Given the description of an element on the screen output the (x, y) to click on. 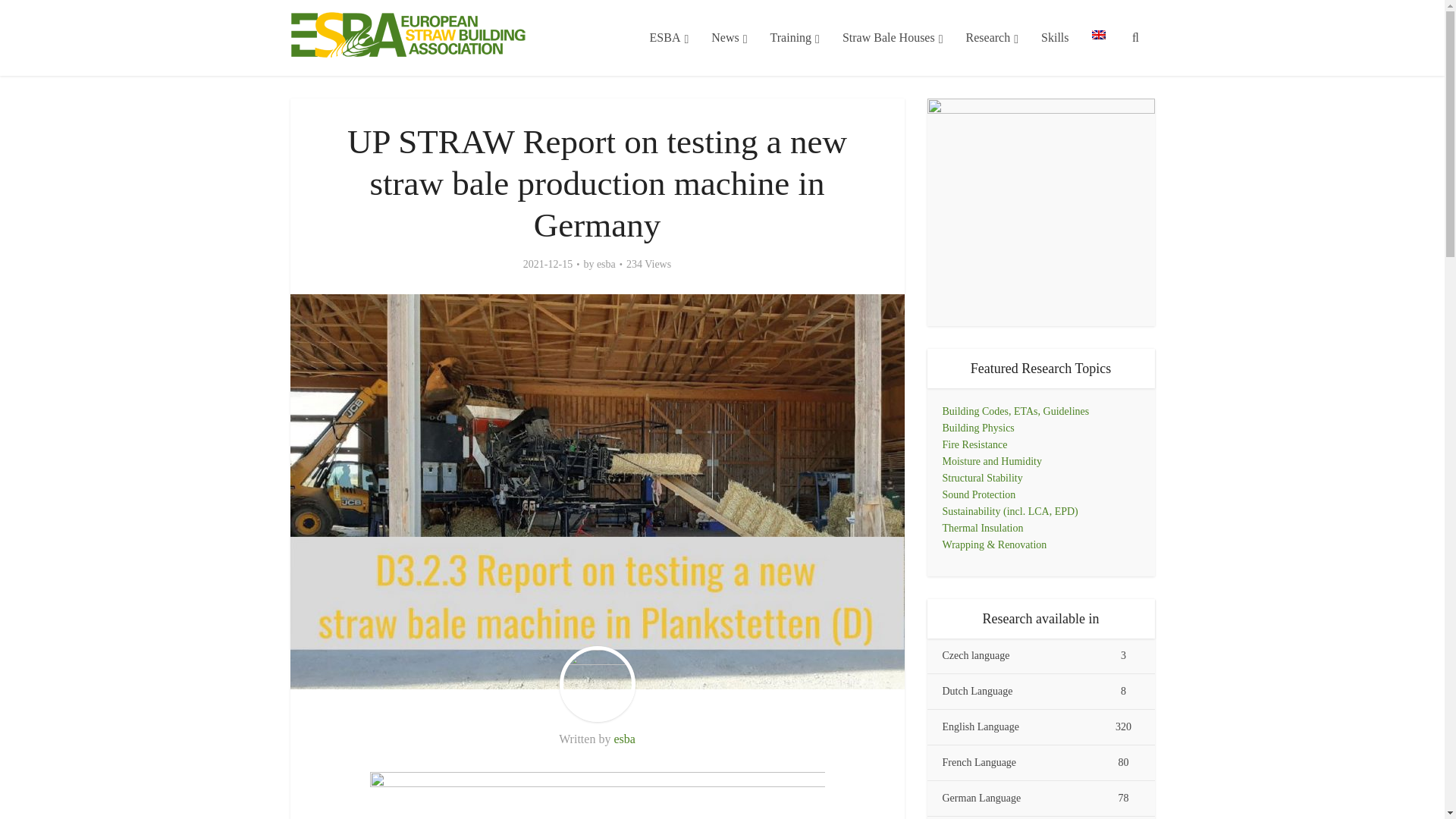
Training (794, 38)
Straw Bale Houses (893, 38)
